Given the description of an element on the screen output the (x, y) to click on. 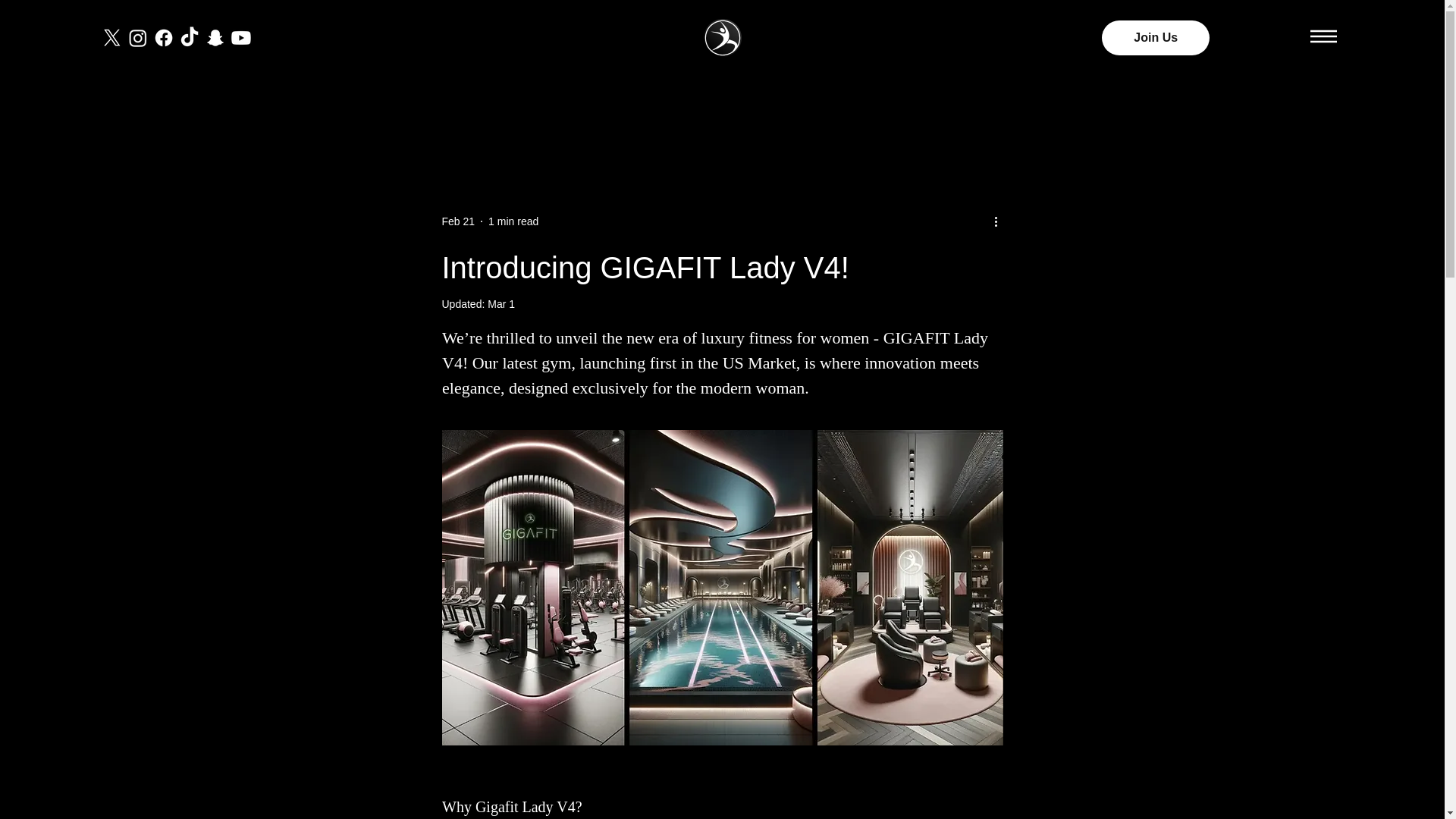
1 min read (512, 221)
Mar 1 (501, 304)
Feb 21 (457, 221)
Join Us (1155, 37)
